Given the description of an element on the screen output the (x, y) to click on. 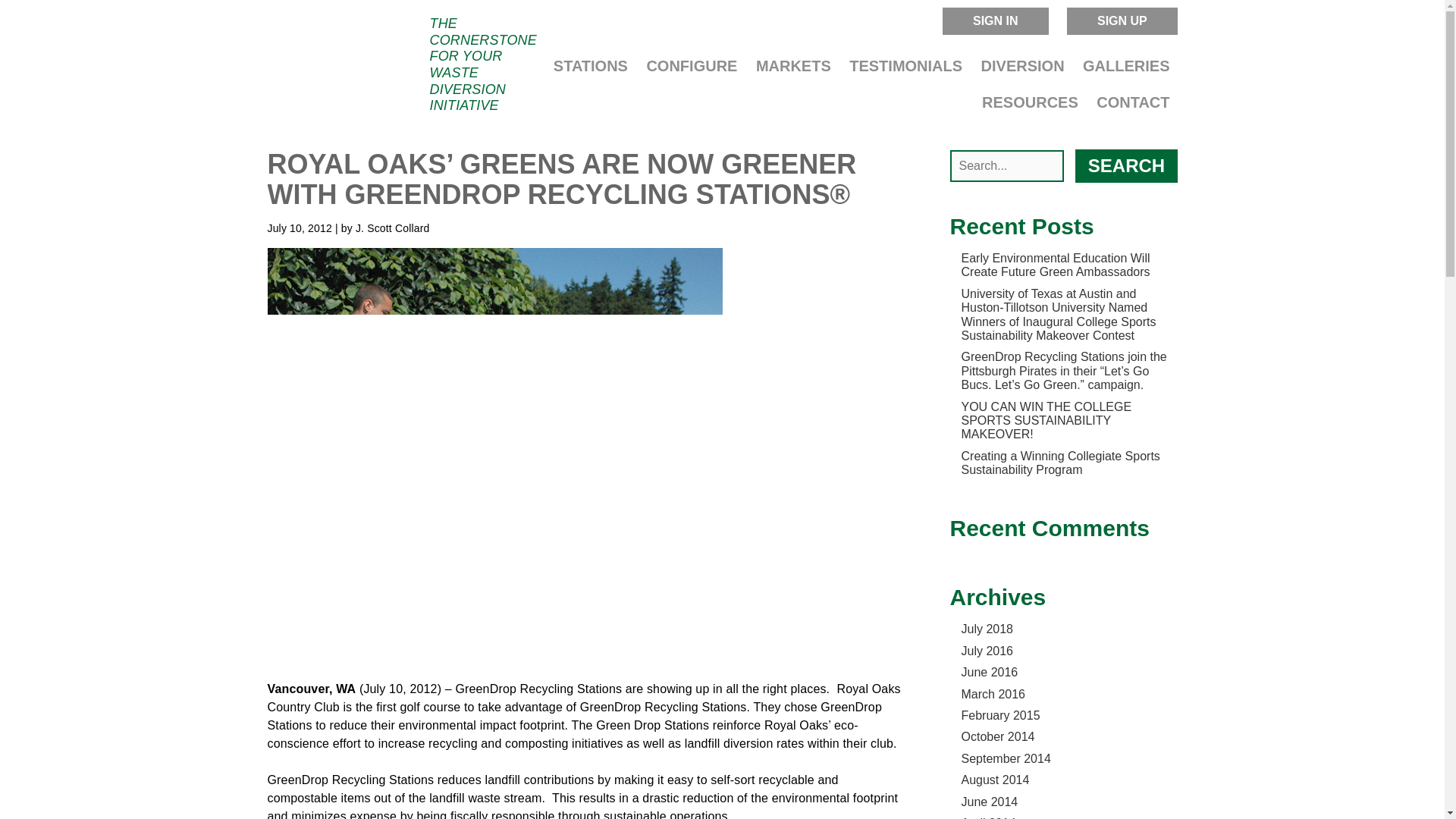
GALLERIES (1125, 67)
June 2016 (988, 671)
SIGN UP (1122, 21)
DIVERSION (1022, 67)
July 2018 (986, 628)
MARKETS (793, 67)
YOU CAN WIN THE COLLEGE SPORTS SUSTAINABILITY MAKEOVER! (1046, 420)
SIGN IN (995, 21)
Creating a Winning Collegiate Sports Sustainability Program (1060, 462)
